Given the description of an element on the screen output the (x, y) to click on. 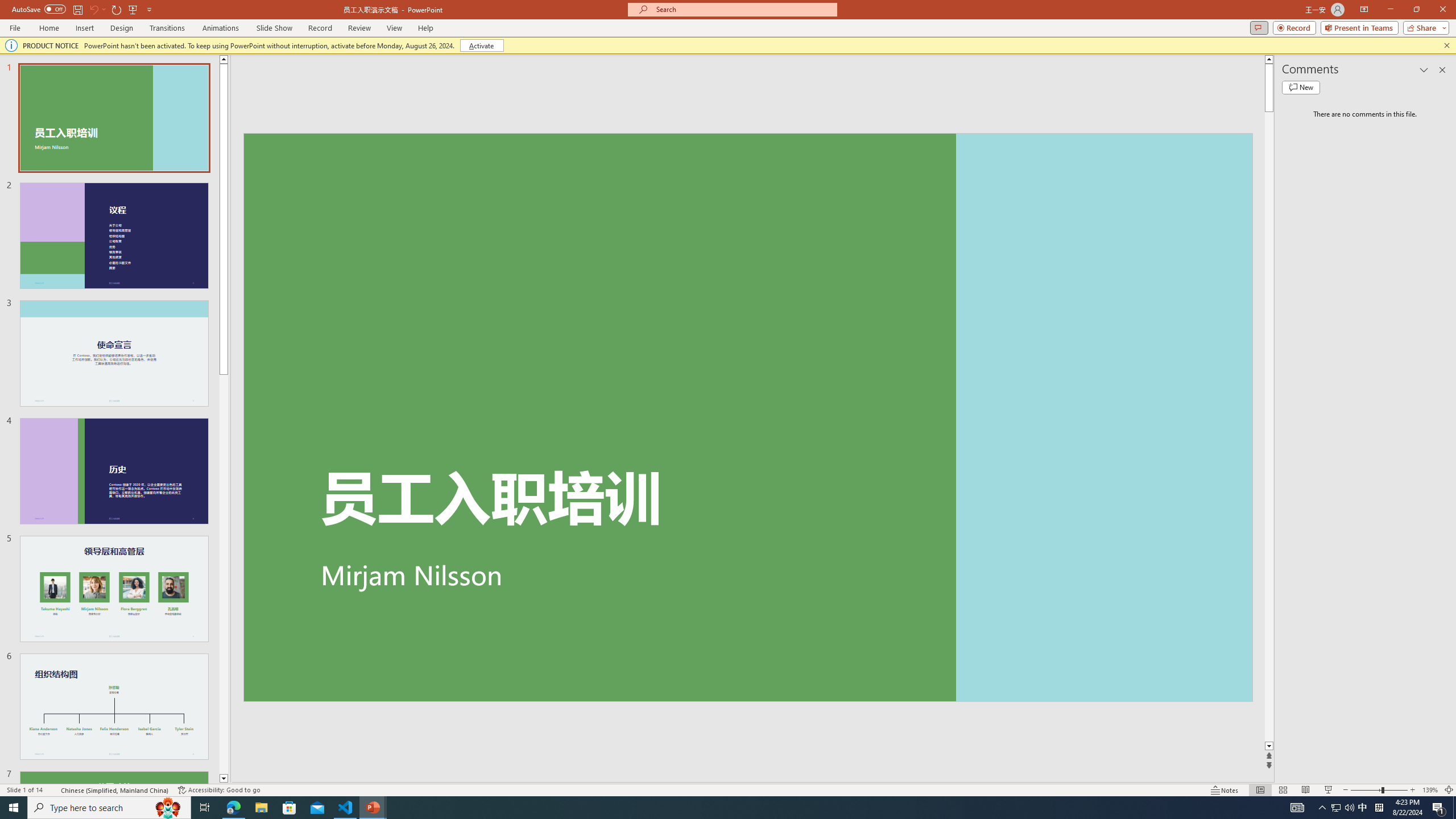
Spell Check  (52, 790)
